Given the description of an element on the screen output the (x, y) to click on. 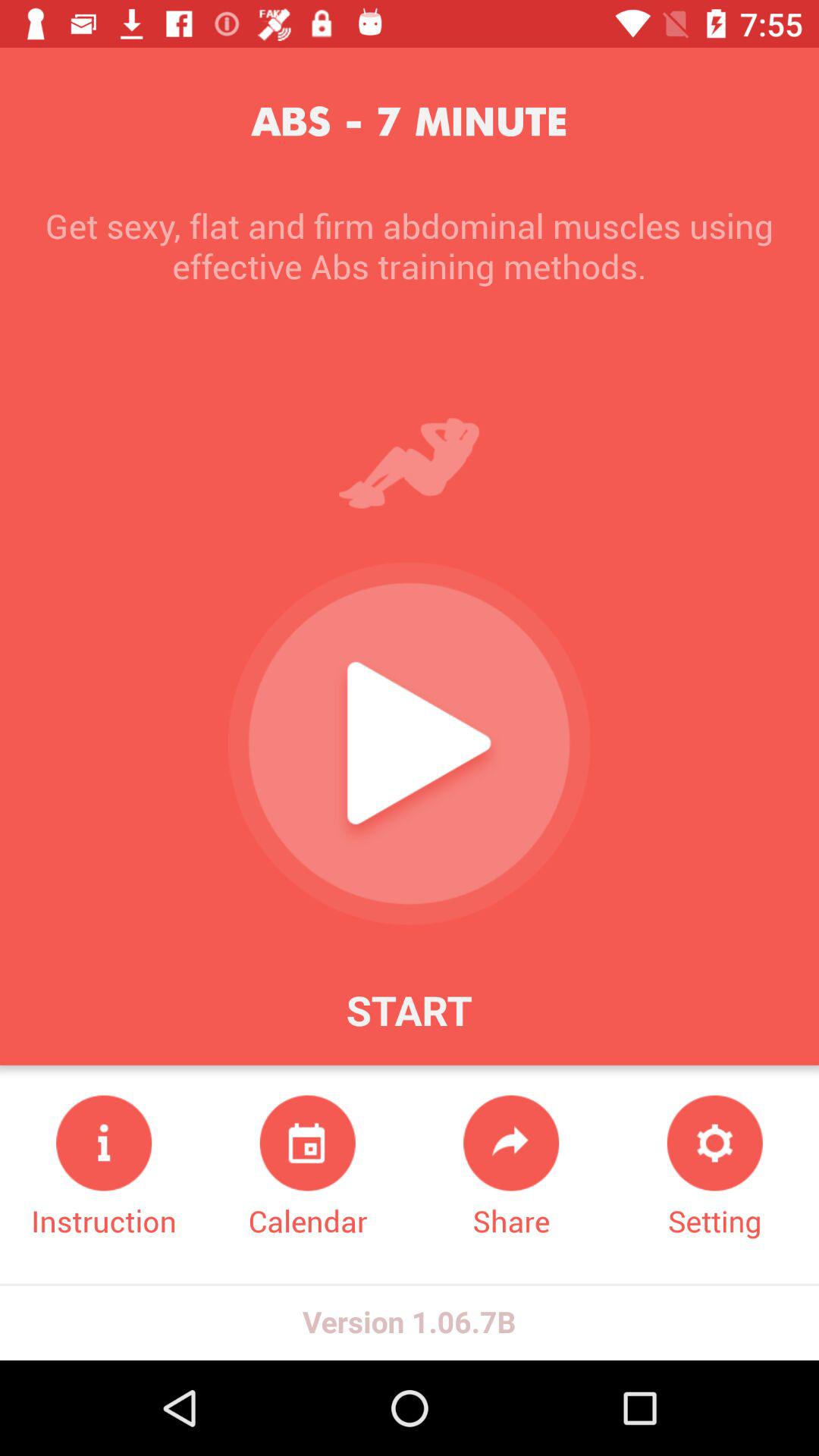
click the icon below start icon (307, 1168)
